Given the description of an element on the screen output the (x, y) to click on. 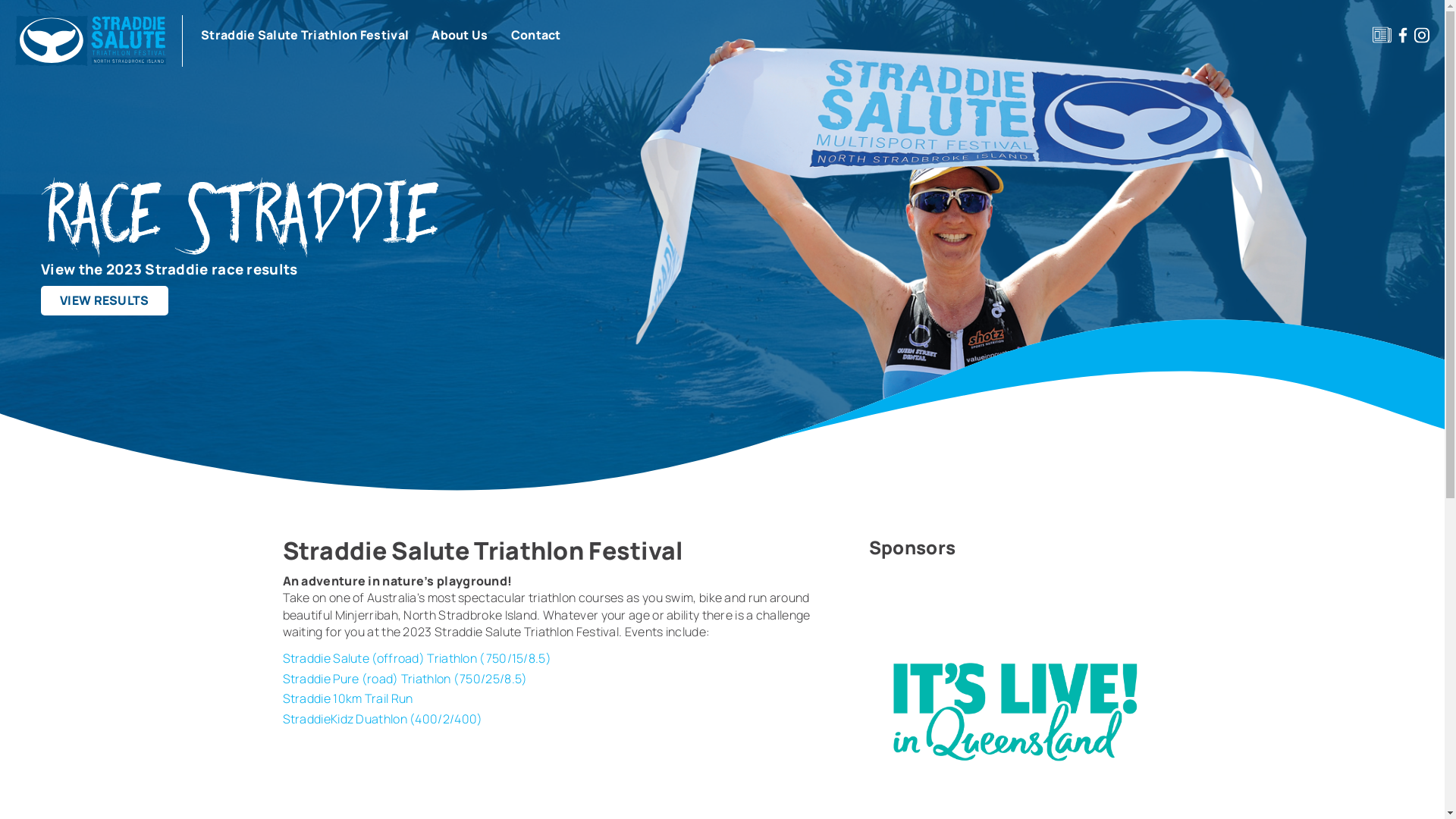
Straddie Salute Triathlon Festival Element type: text (304, 34)
Straddie Pure (road) Triathlon (750/25/8.5) Element type: text (404, 678)
StraddieKidz Duathlon (400/2/400) Element type: text (382, 718)
About Us Element type: text (459, 34)
Contact Element type: text (535, 34)
Straddie Salute (offroad) Triathlon (750/15/8.5) Element type: text (416, 657)
Straddie 10km Trail Run Element type: text (347, 698)
VIEW RESULTS Element type: text (104, 299)
